Given the description of an element on the screen output the (x, y) to click on. 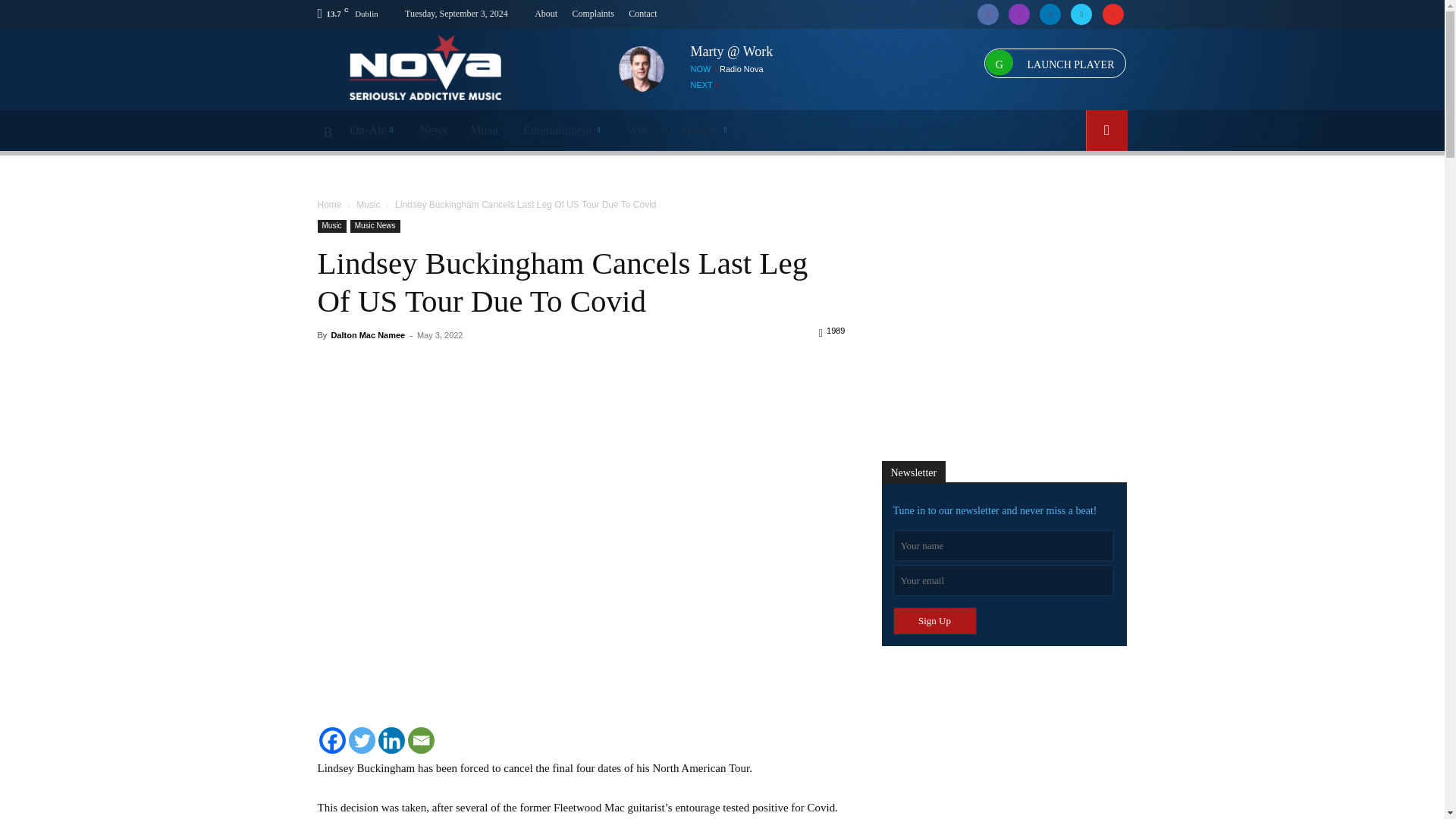
Linkedin (1049, 14)
Twitter (1081, 14)
Instagram (1018, 14)
About (545, 13)
Facebook (988, 14)
Complaints (593, 13)
Youtube (1111, 14)
Contact (642, 13)
Sign Up (934, 620)
